Given the description of an element on the screen output the (x, y) to click on. 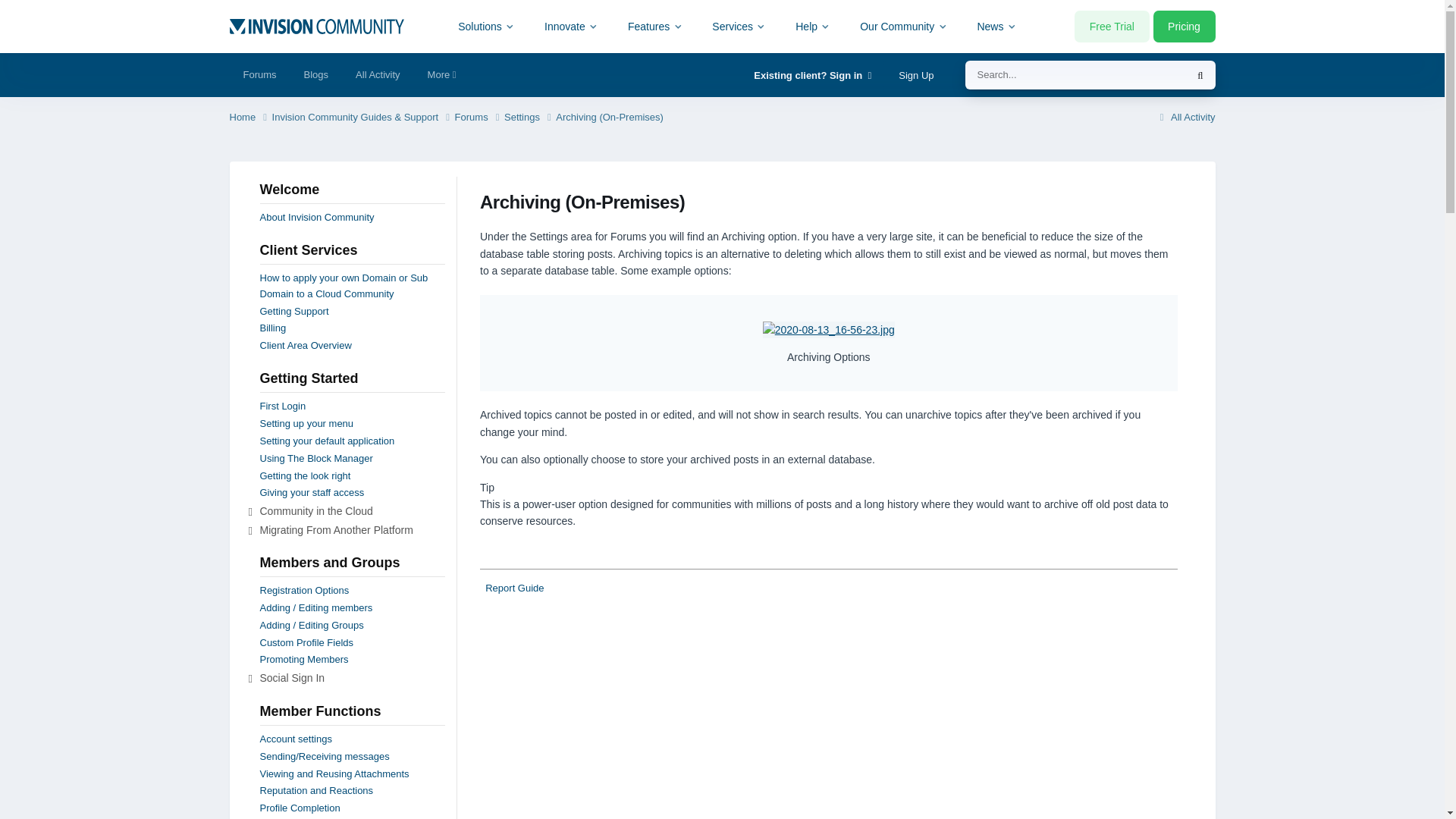
Features (654, 26)
Help (812, 26)
Innovate (570, 26)
Home (249, 117)
Services (738, 26)
Solutions (486, 26)
